Given the description of an element on the screen output the (x, y) to click on. 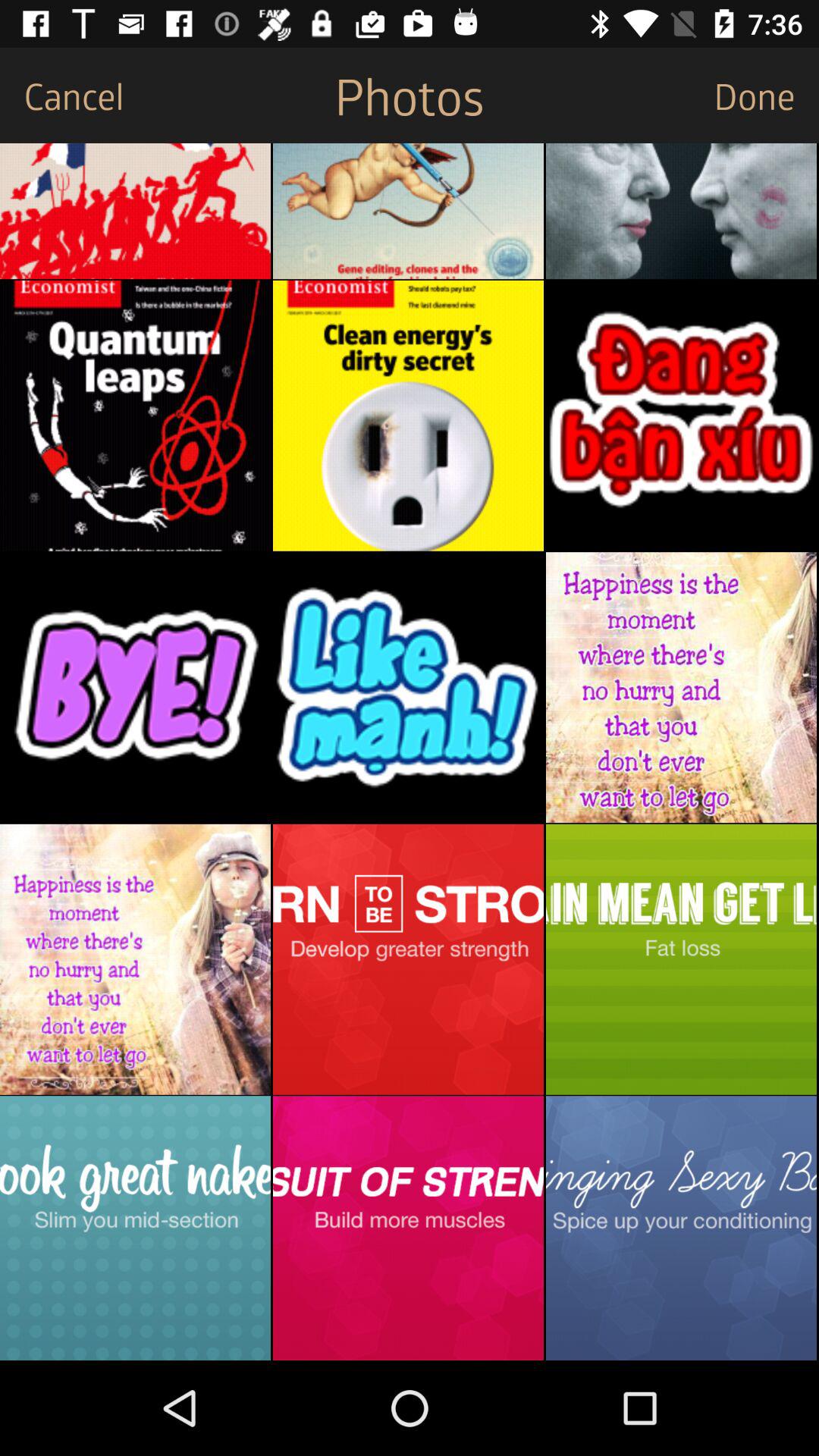
select the item below photos item (408, 211)
